Given the description of an element on the screen output the (x, y) to click on. 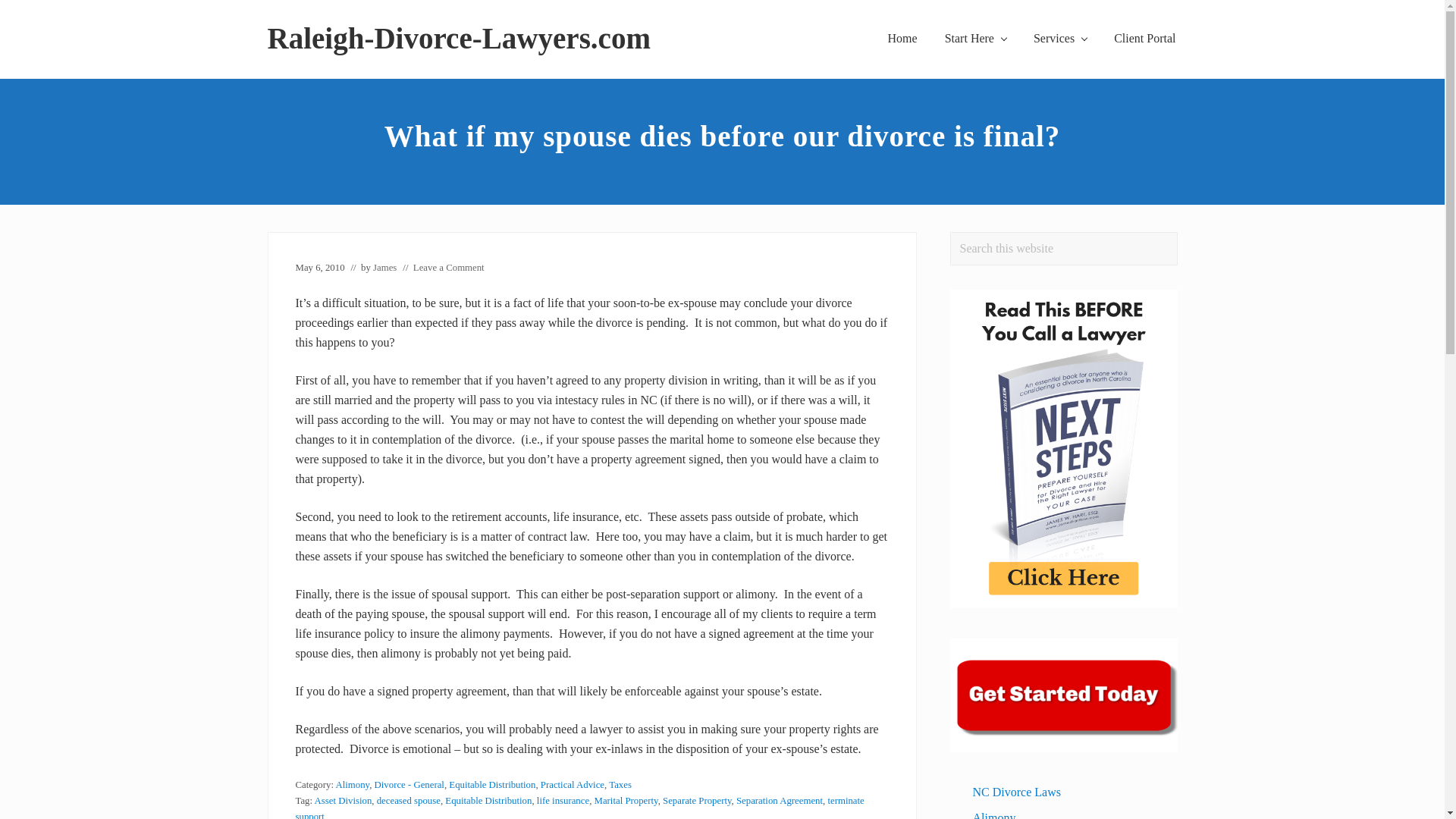
Start Here (975, 38)
Raleigh-Divorce-Lawyers.com (457, 38)
Client Portal (1145, 38)
Leave a Comment (448, 267)
Services (1060, 38)
Home (903, 38)
